Given the description of an element on the screen output the (x, y) to click on. 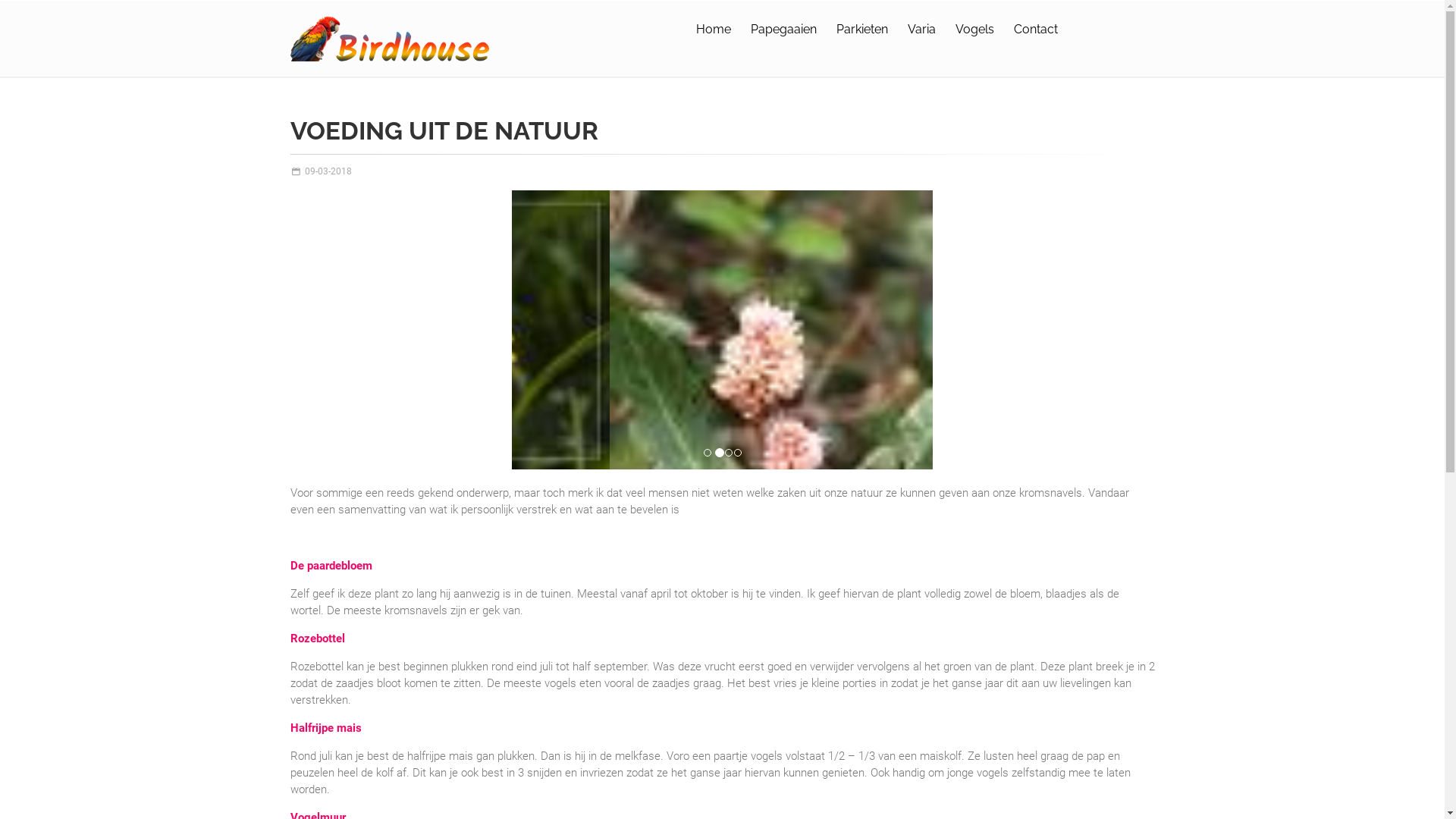
Vogels Element type: text (974, 29)
Contact Element type: text (1035, 29)
Home Element type: text (713, 29)
Parkieten Element type: text (861, 29)
Varia Element type: text (920, 29)
Papegaaien Element type: text (783, 29)
